Given the description of an element on the screen output the (x, y) to click on. 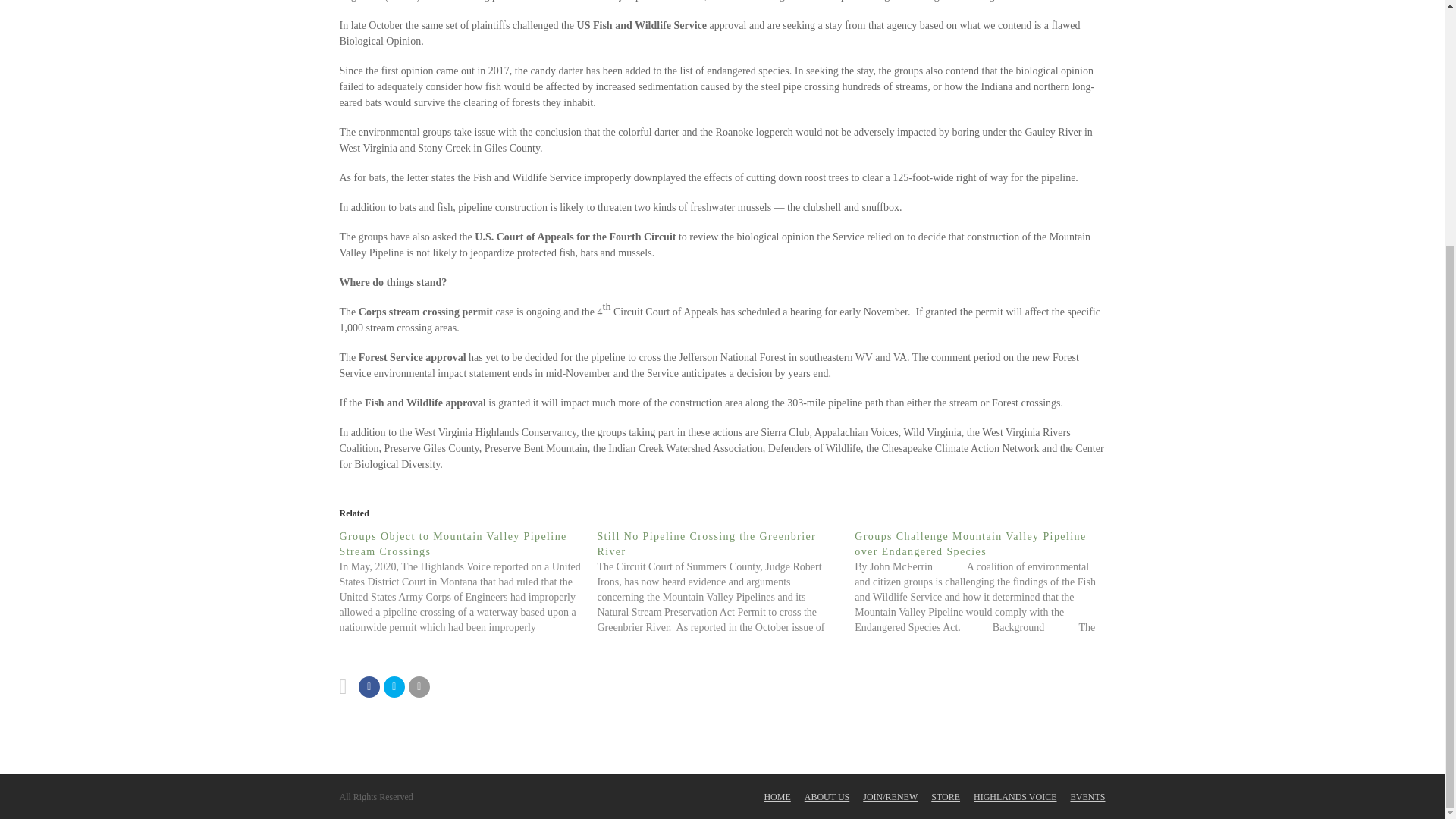
Tweet (394, 686)
Groups Object to Mountain Valley Pipeline Stream Crossings (453, 543)
Groups Object to Mountain Valley Pipeline Stream Crossings (453, 543)
Still No Pipeline Crossing the Greenbrier River (725, 582)
Groups Object to Mountain Valley Pipeline Stream Crossings (467, 582)
Share on Facebook (369, 686)
Email (419, 686)
Still No Pipeline Crossing the Greenbrier River (705, 543)
